Given the description of an element on the screen output the (x, y) to click on. 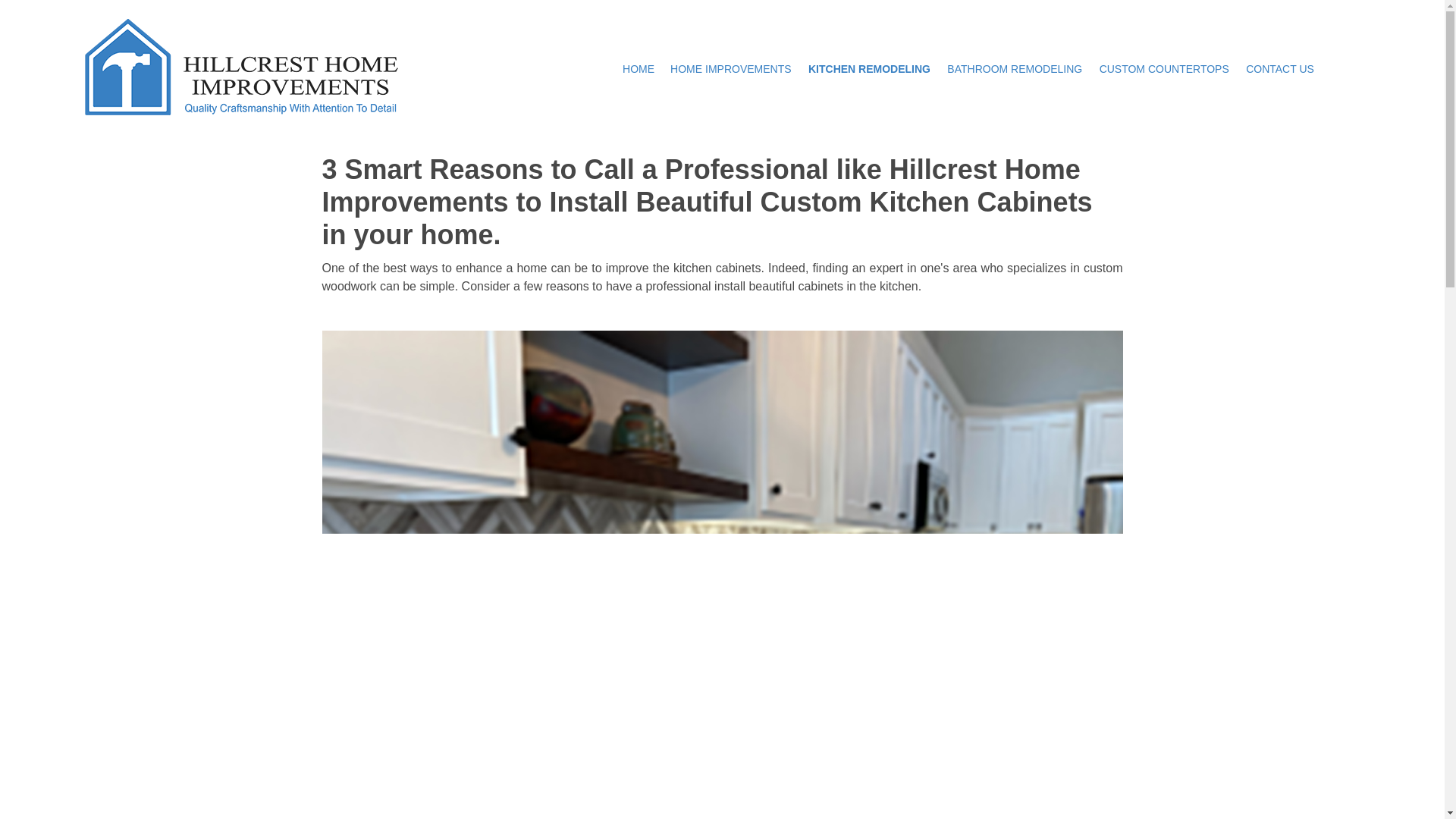
CUSTOM COUNTERTOPS (1164, 69)
CONTACT US (1280, 69)
BATHROOM REMODELING (1014, 69)
KITCHEN REMODELING (869, 69)
HOME IMPROVEMENTS (731, 69)
HOME (638, 69)
